Given the description of an element on the screen output the (x, y) to click on. 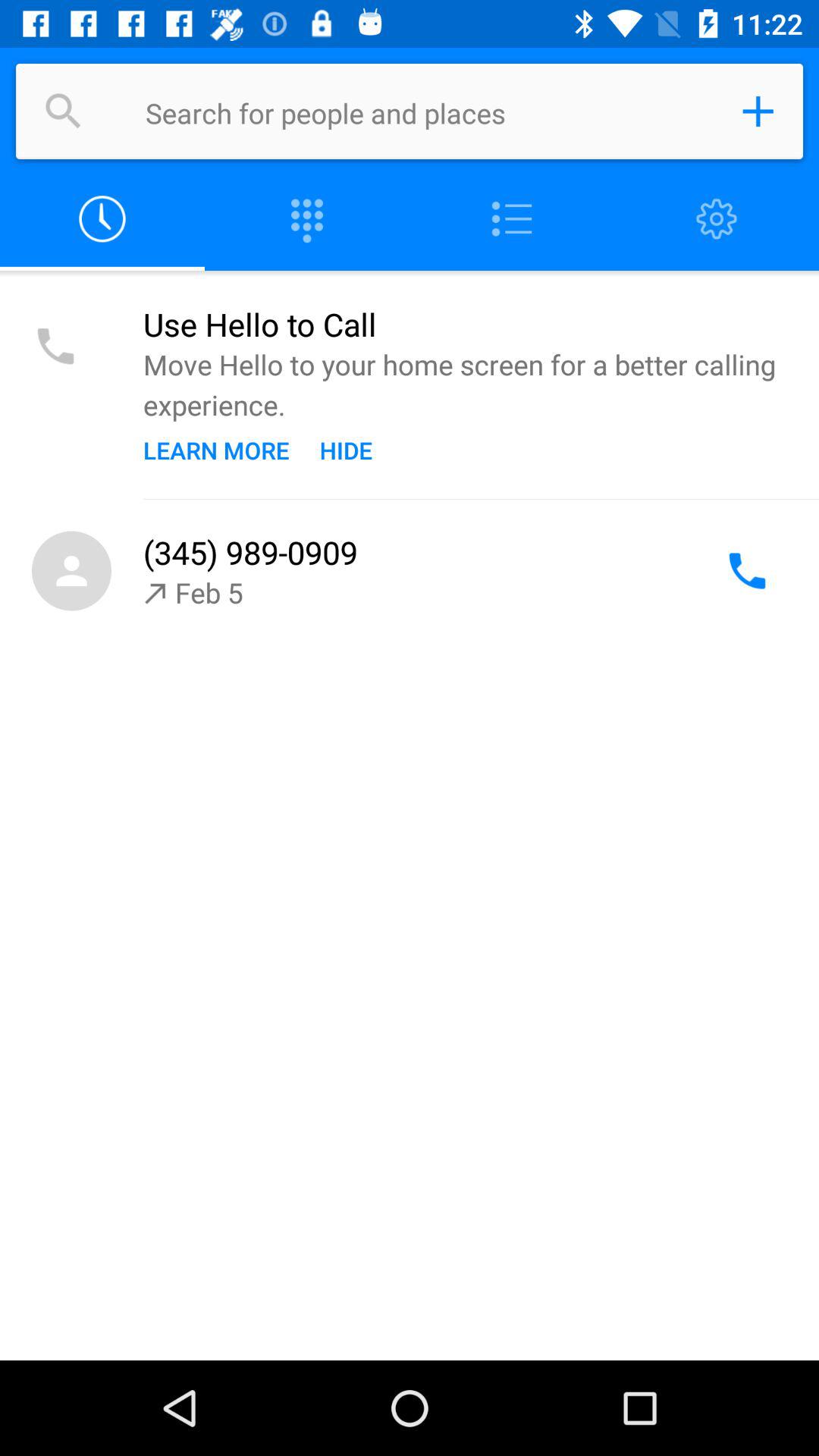
select icon below the move hello to icon (345, 449)
